Given the description of an element on the screen output the (x, y) to click on. 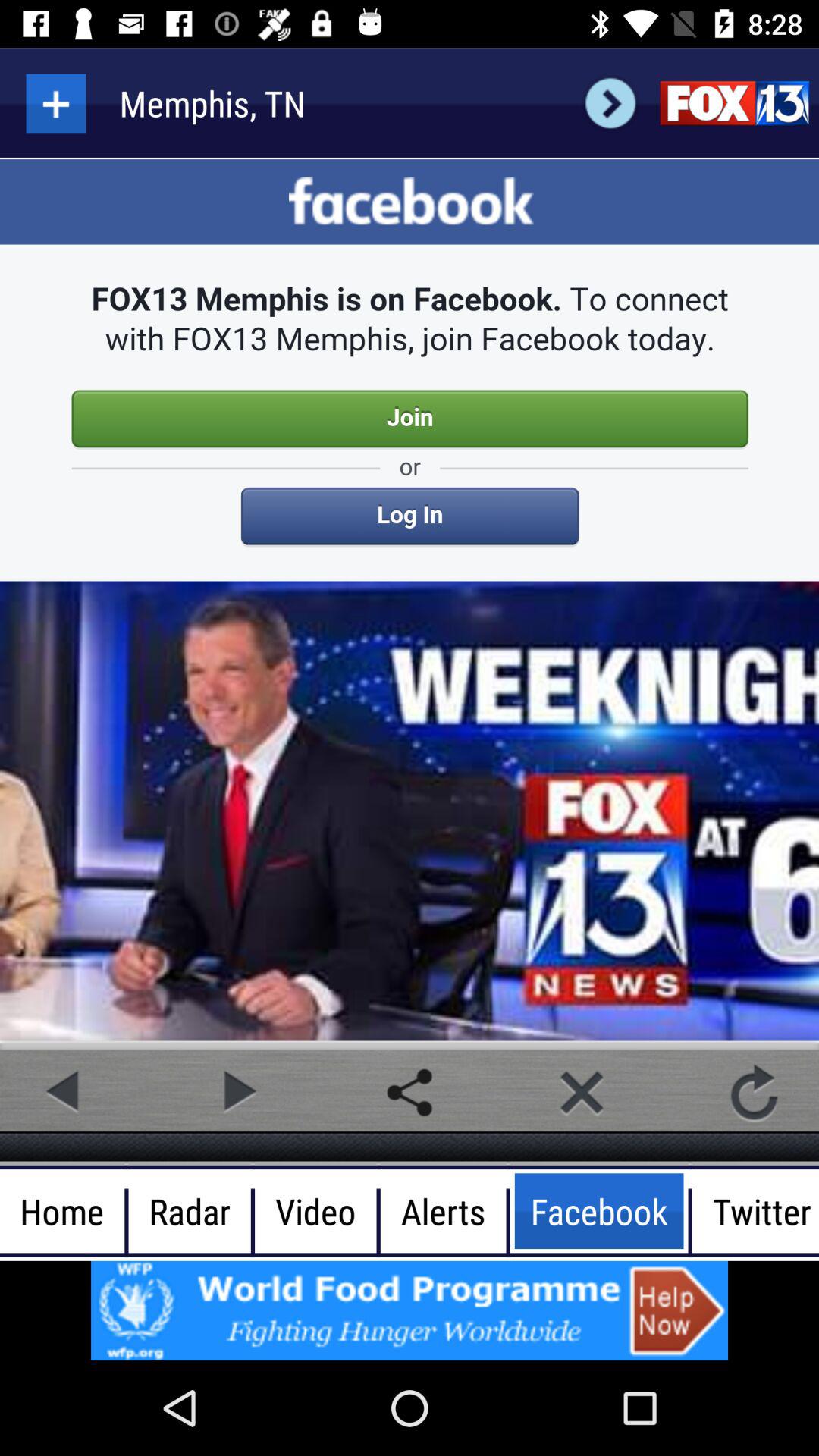
refresh video (754, 1092)
